Given the description of an element on the screen output the (x, y) to click on. 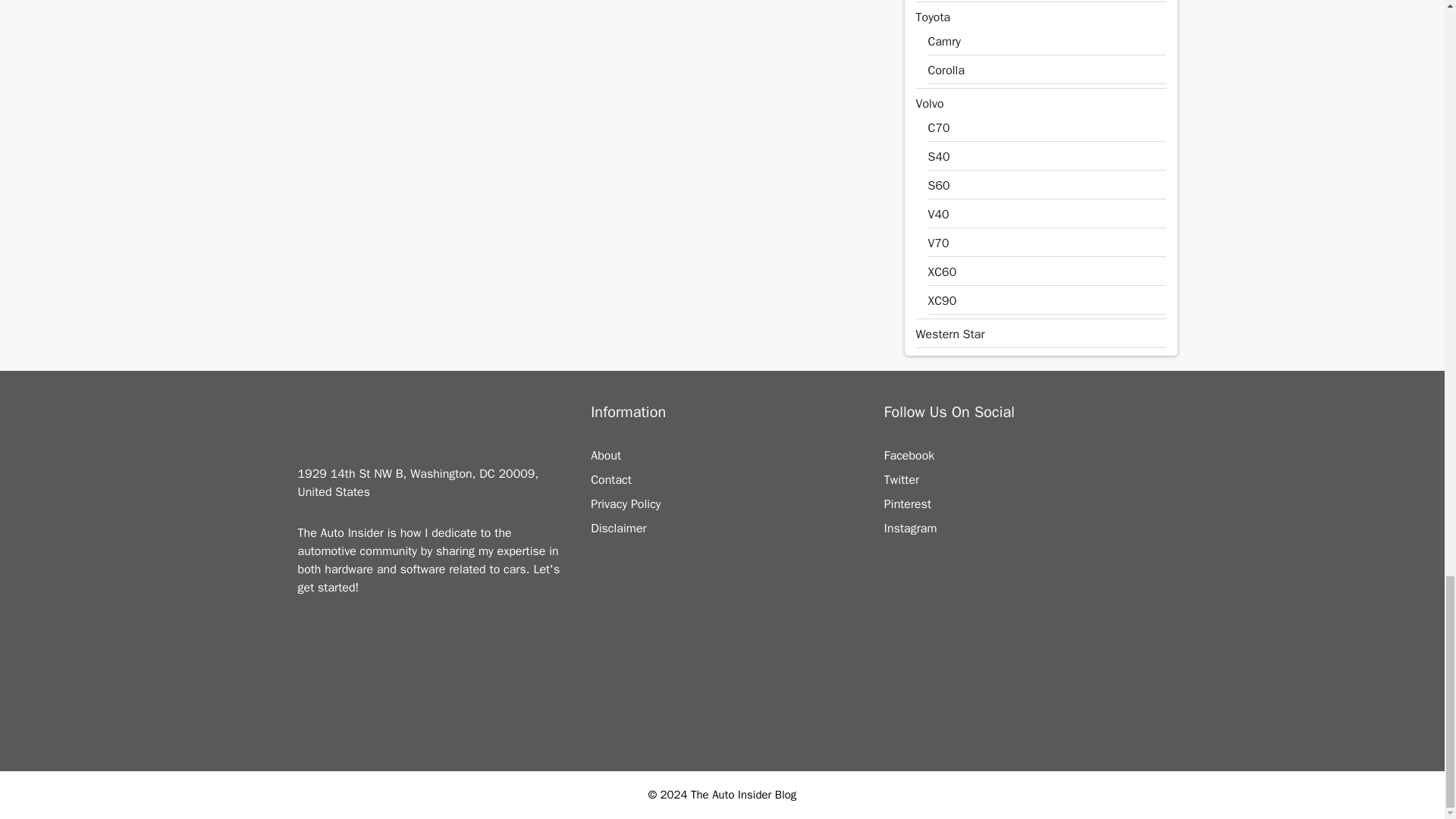
DMCA.com Protection Status (722, 731)
